Given the description of an element on the screen output the (x, y) to click on. 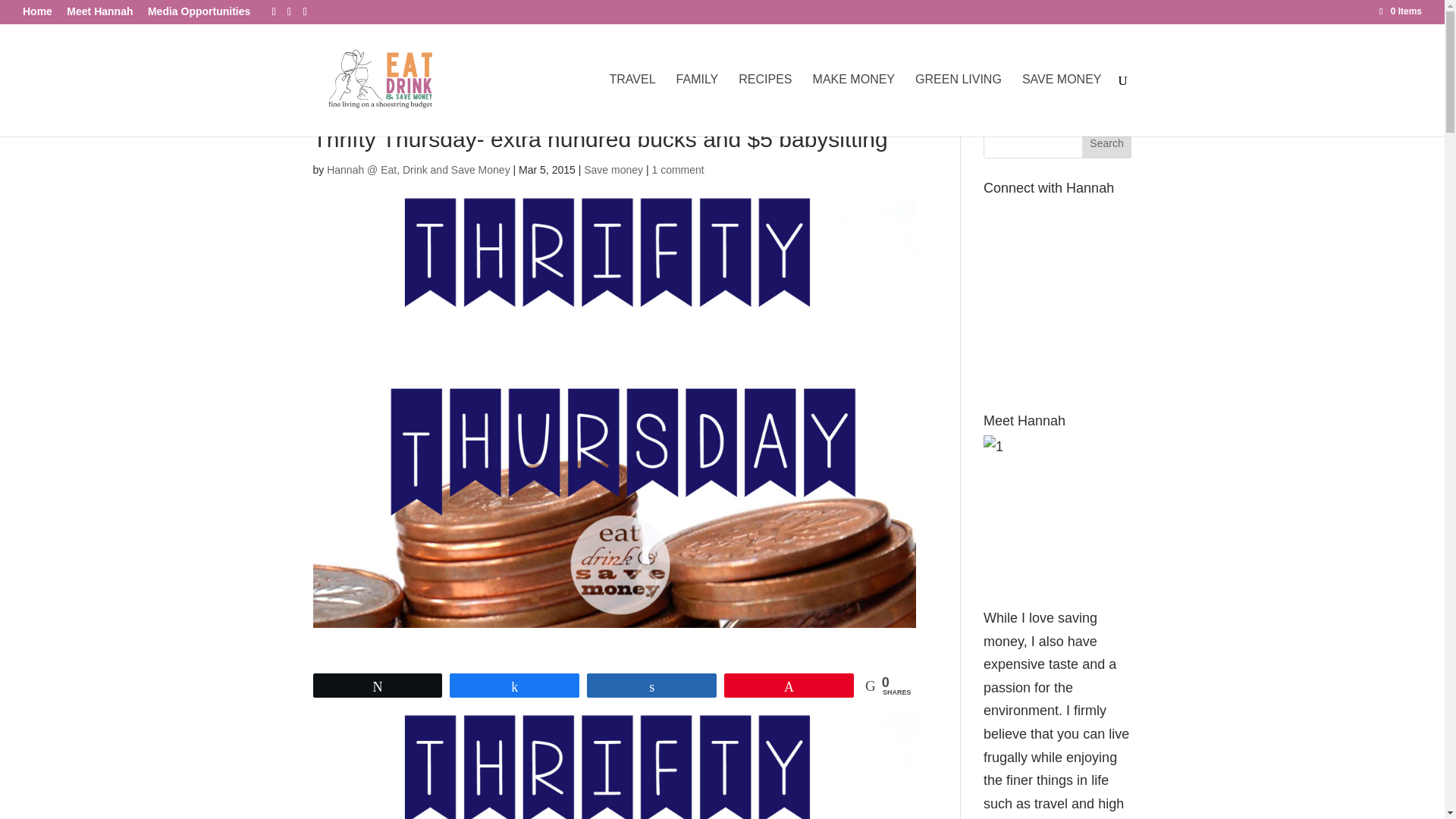
1 comment (676, 169)
MAKE MONEY (853, 105)
Home (37, 10)
Media Opportunities (199, 10)
GREEN LIVING (958, 105)
Save money (613, 169)
Meet Hannah (99, 10)
SAVE MONEY (1062, 105)
0 Items (1400, 10)
Search (1106, 142)
